Given the description of an element on the screen output the (x, y) to click on. 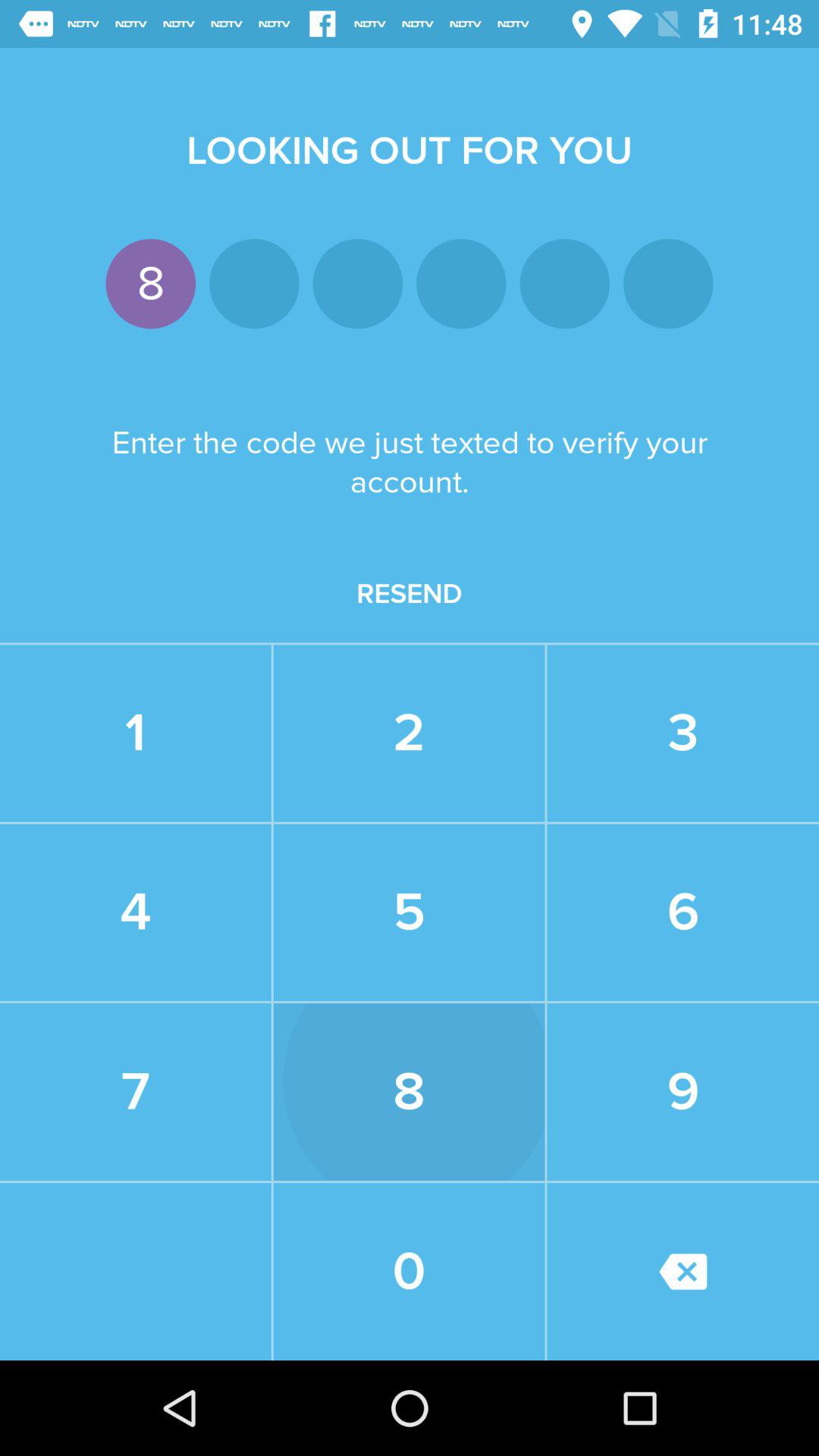
swipe to the 2 icon (408, 732)
